Given the description of an element on the screen output the (x, y) to click on. 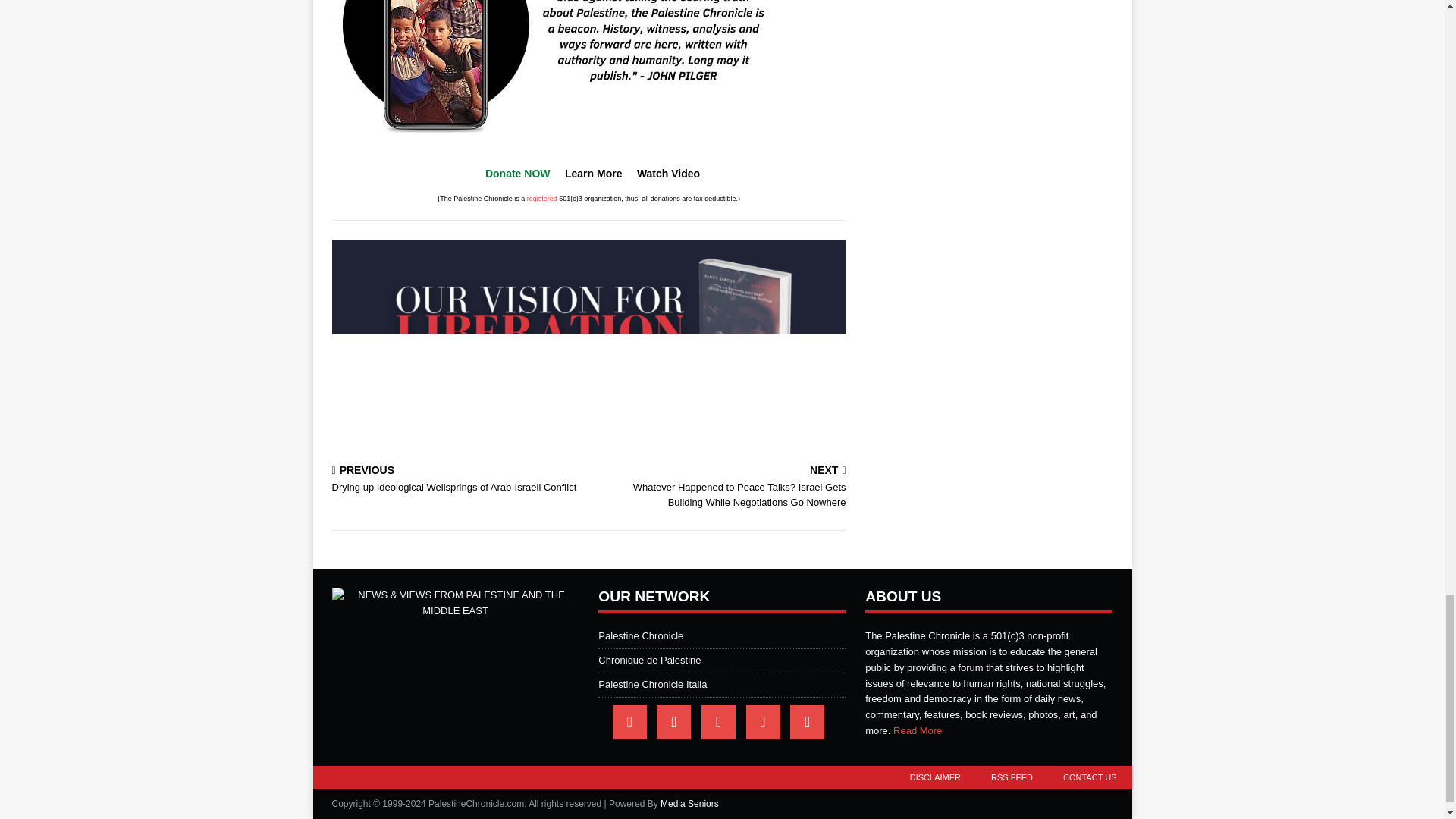
Learn More (592, 173)
Watch Video (668, 173)
Donate NOW (517, 173)
registered (542, 198)
